Given the description of an element on the screen output the (x, y) to click on. 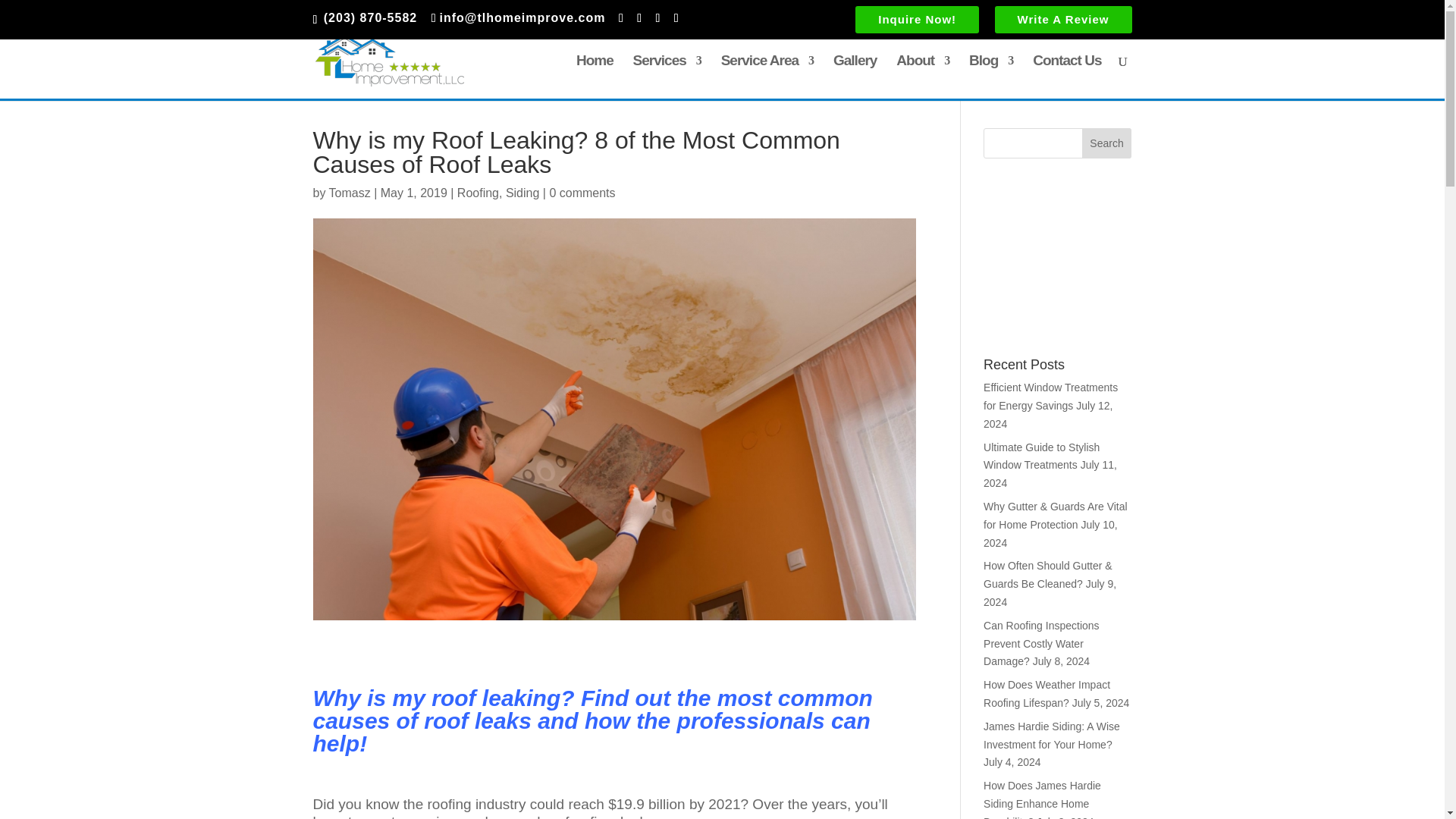
Write A Review (1063, 22)
0 comments (581, 192)
Blog (991, 76)
Posts by Tomasz (350, 192)
Search (1106, 142)
Contact Us (1066, 76)
Service Area (766, 76)
Tomasz (350, 192)
Gallery (854, 76)
Roofing (478, 192)
